Given the description of an element on the screen output the (x, y) to click on. 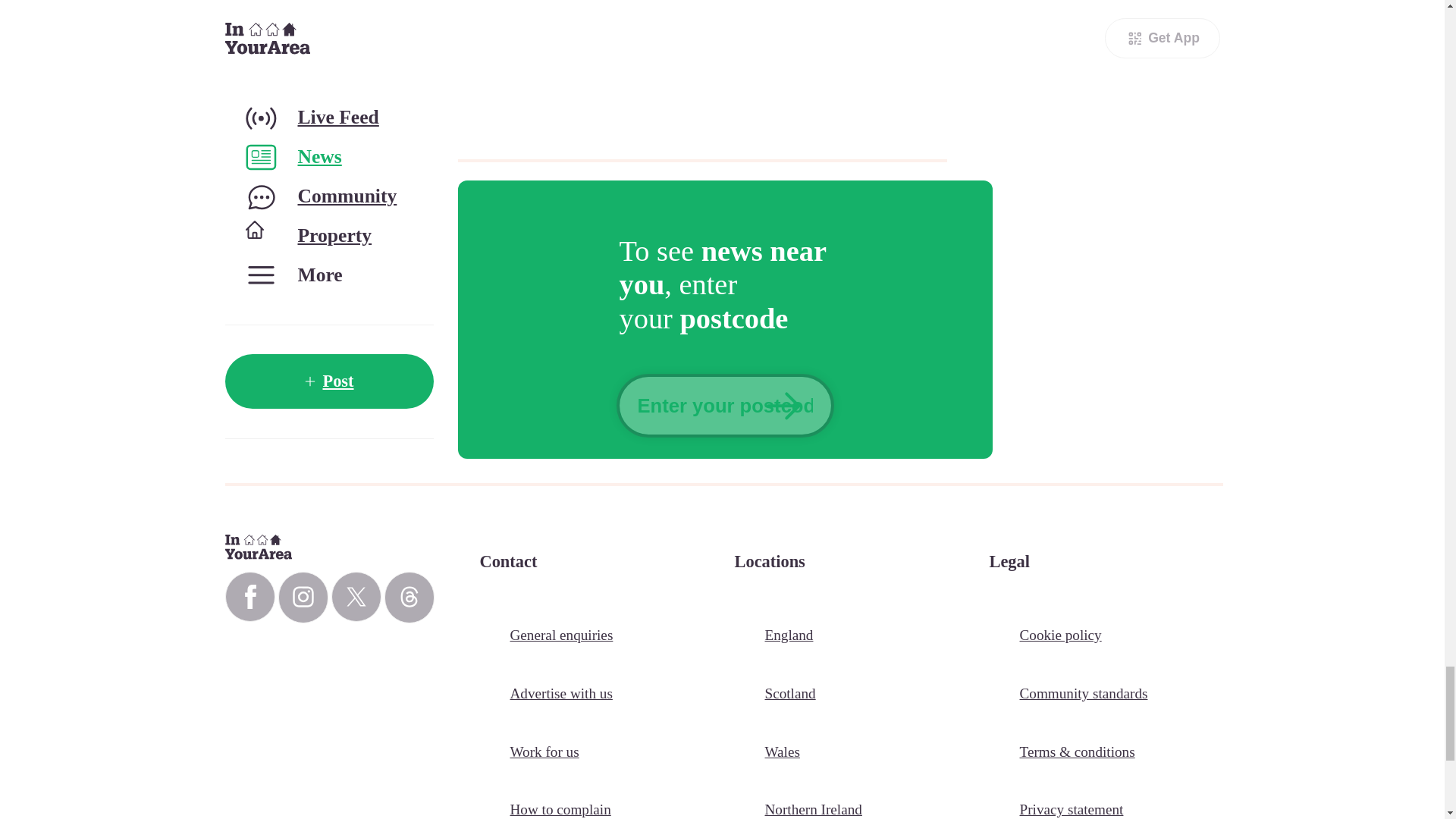
InYourArea Instagram (302, 597)
InYourArea X (355, 596)
InYourArea Facebook (249, 596)
InYourArea Threads (408, 597)
comments (719, 69)
